Given the description of an element on the screen output the (x, y) to click on. 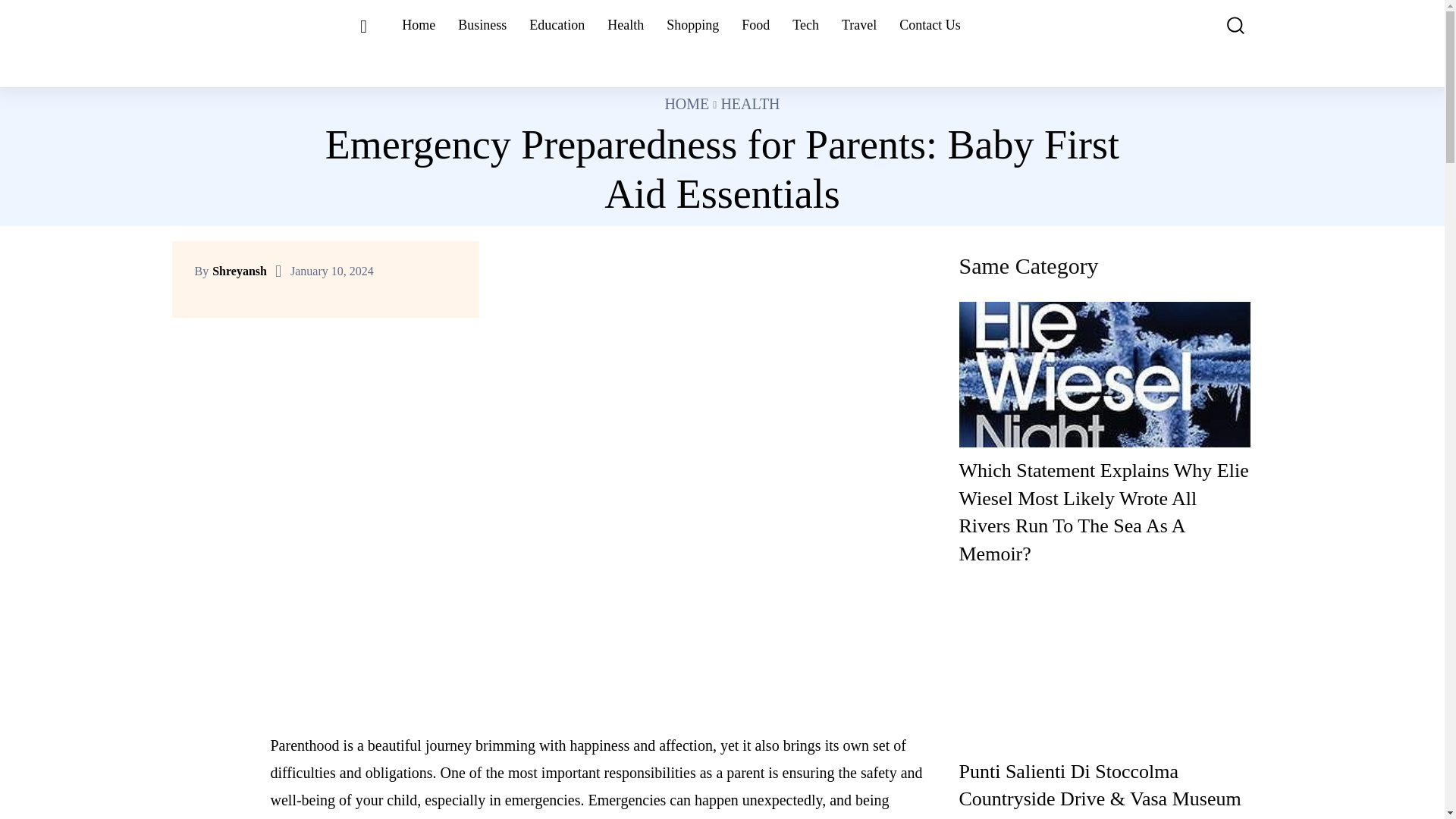
Business (481, 25)
Food (755, 25)
Home (418, 25)
Shreyansh (239, 271)
Shopping (692, 25)
Education (556, 25)
Tech (805, 25)
HOME (686, 103)
